Given the description of an element on the screen output the (x, y) to click on. 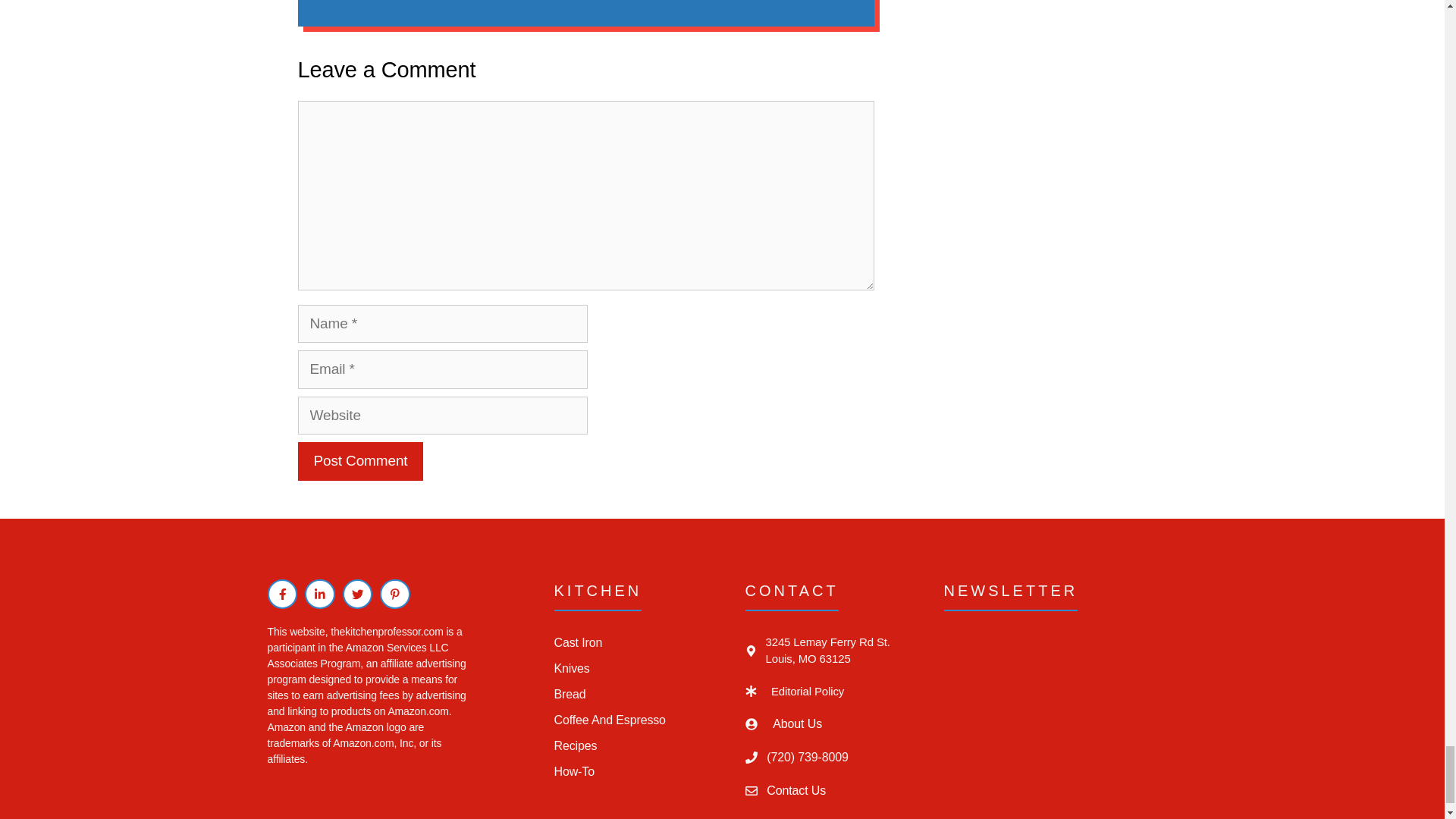
Post Comment (360, 461)
